Given the description of an element on the screen output the (x, y) to click on. 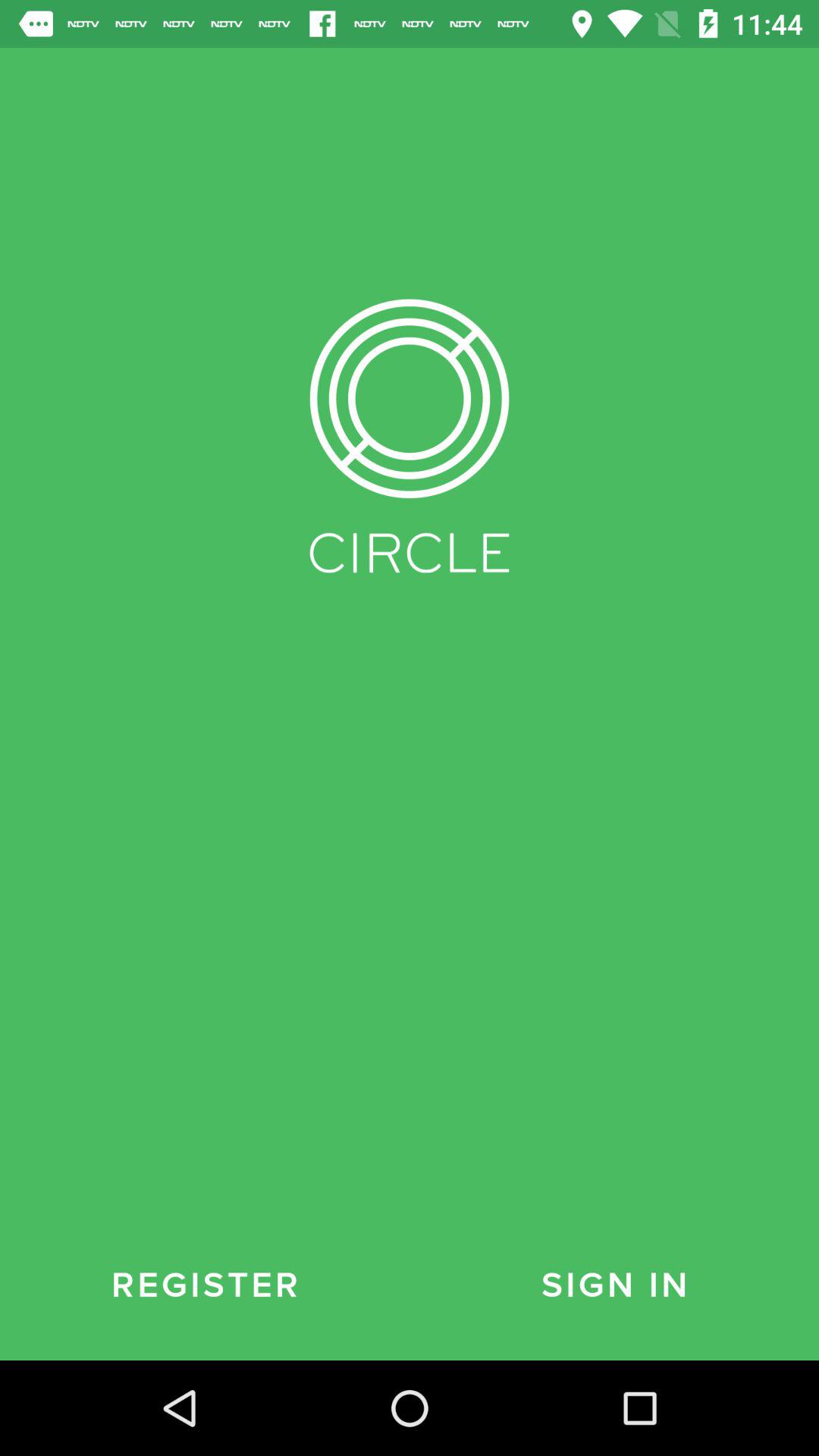
launch the register (204, 1285)
